Given the description of an element on the screen output the (x, y) to click on. 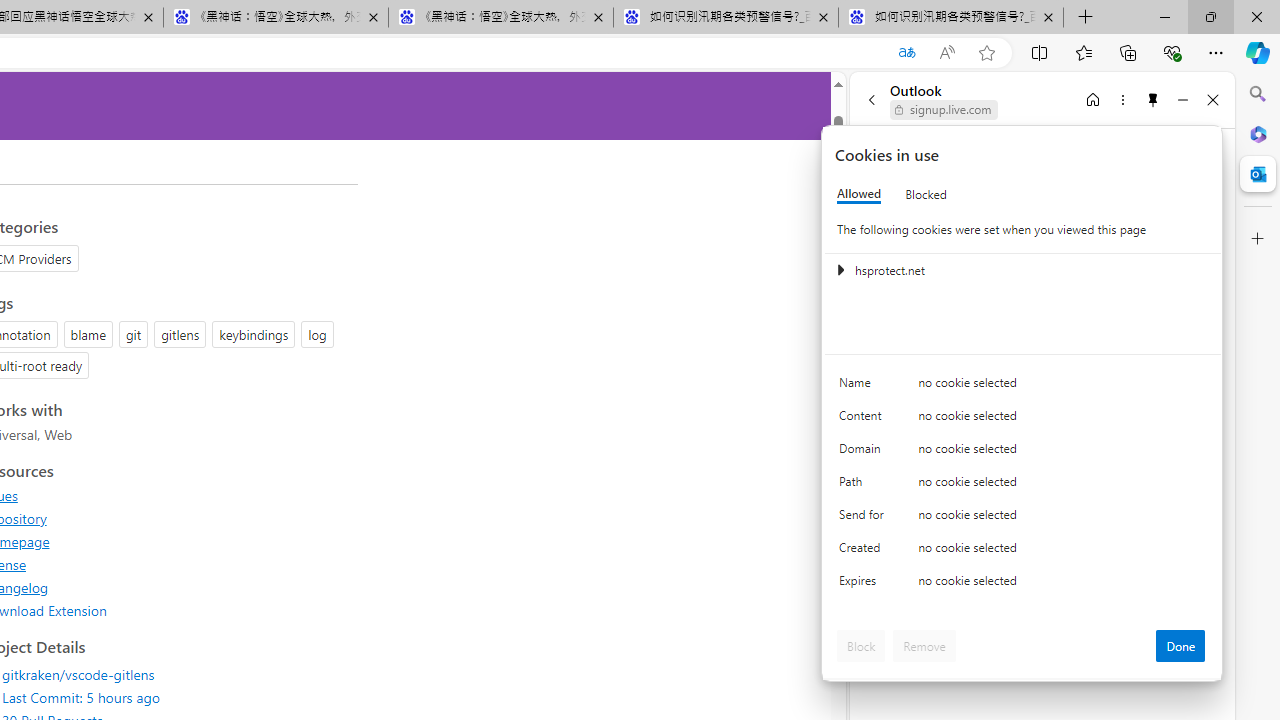
Domain (864, 452)
Allowed (859, 193)
Class: c0153 c0157 (1023, 584)
Done (1179, 645)
Blocked (925, 193)
Expires (864, 585)
Path (864, 485)
Content (864, 420)
Name (864, 387)
no cookie selected (1062, 585)
Created (864, 552)
Send for (864, 518)
Class: c0153 c0157 c0154 (1023, 386)
Remove (924, 645)
Block (861, 645)
